Given the description of an element on the screen output the (x, y) to click on. 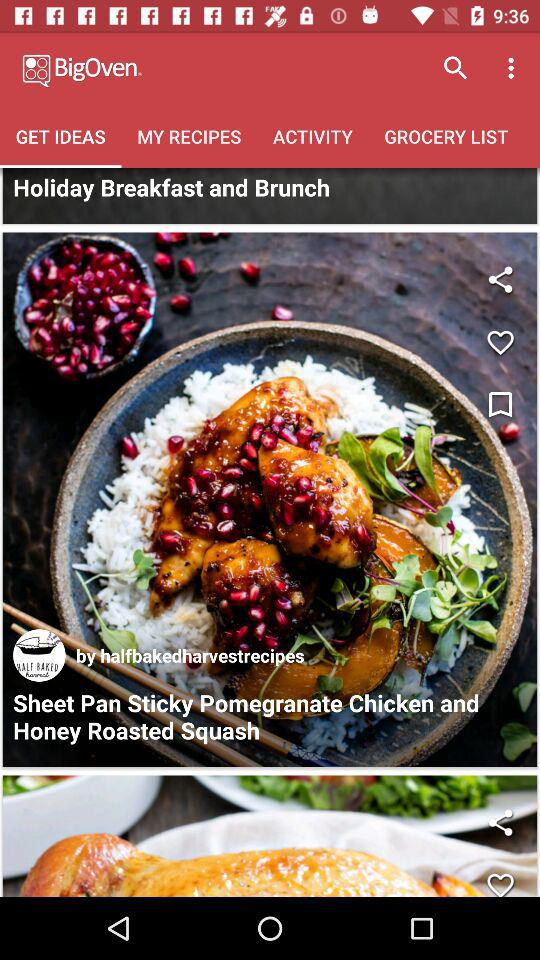
choose the icon above sheet pan sticky icon (39, 655)
